Given the description of an element on the screen output the (x, y) to click on. 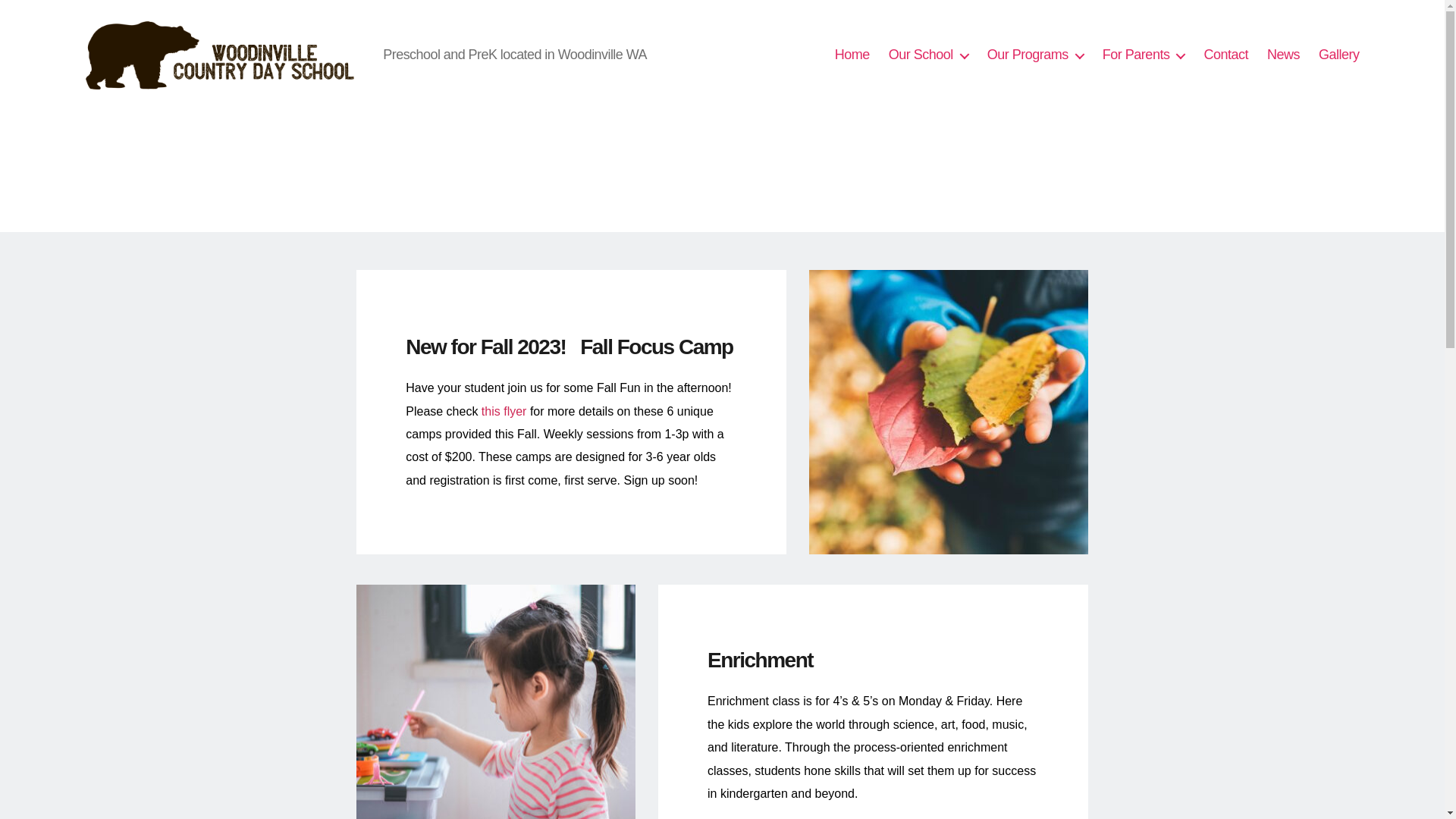
Our Programs (1035, 54)
this flyer (504, 410)
Gallery (1339, 54)
Our School (928, 54)
Contact (1225, 54)
Home (851, 54)
For Parents (1143, 54)
News (1283, 54)
